Given the description of an element on the screen output the (x, y) to click on. 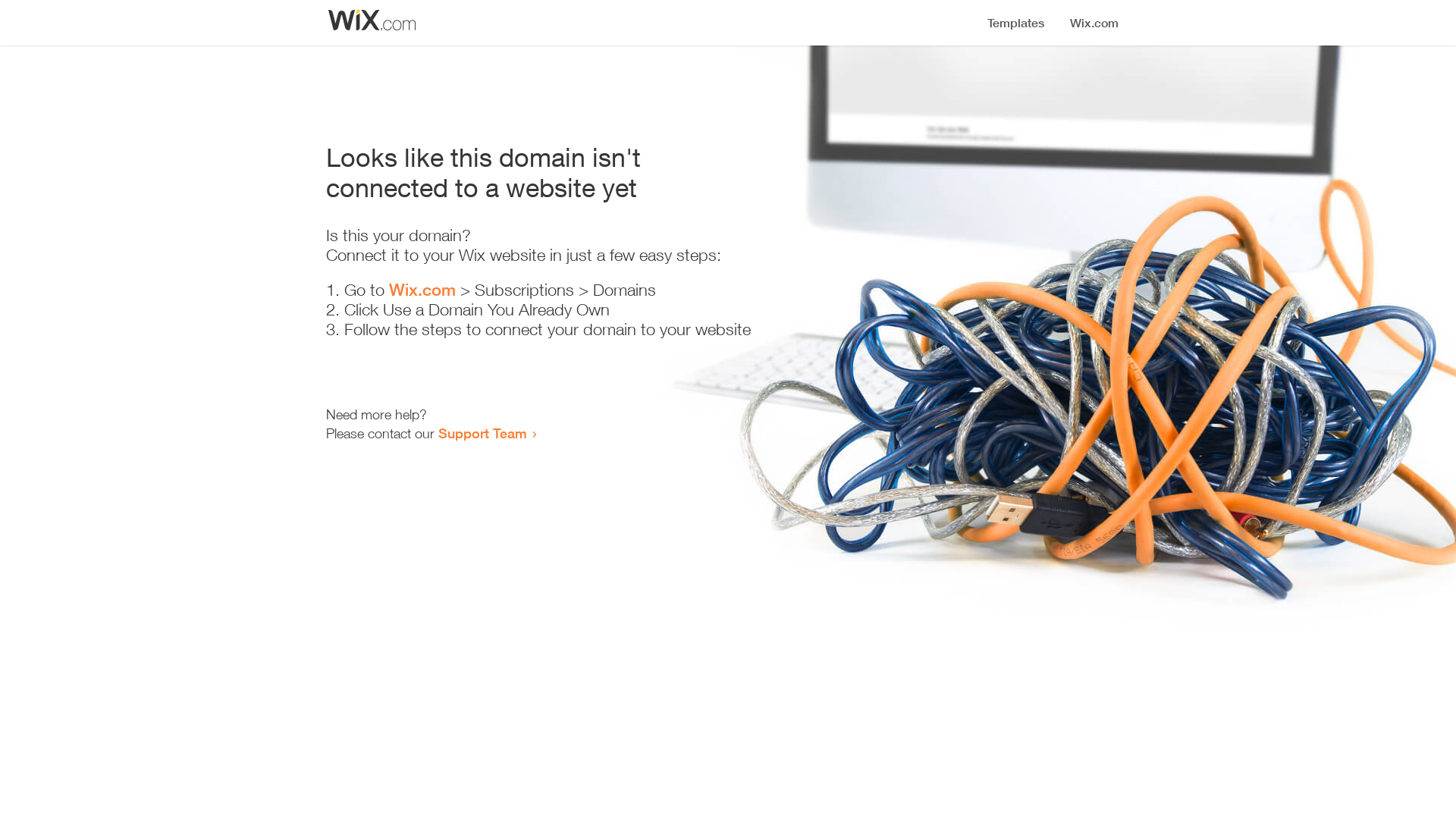
Support Team Element type: text (482, 432)
Wix.com Element type: text (422, 289)
